Given the description of an element on the screen output the (x, y) to click on. 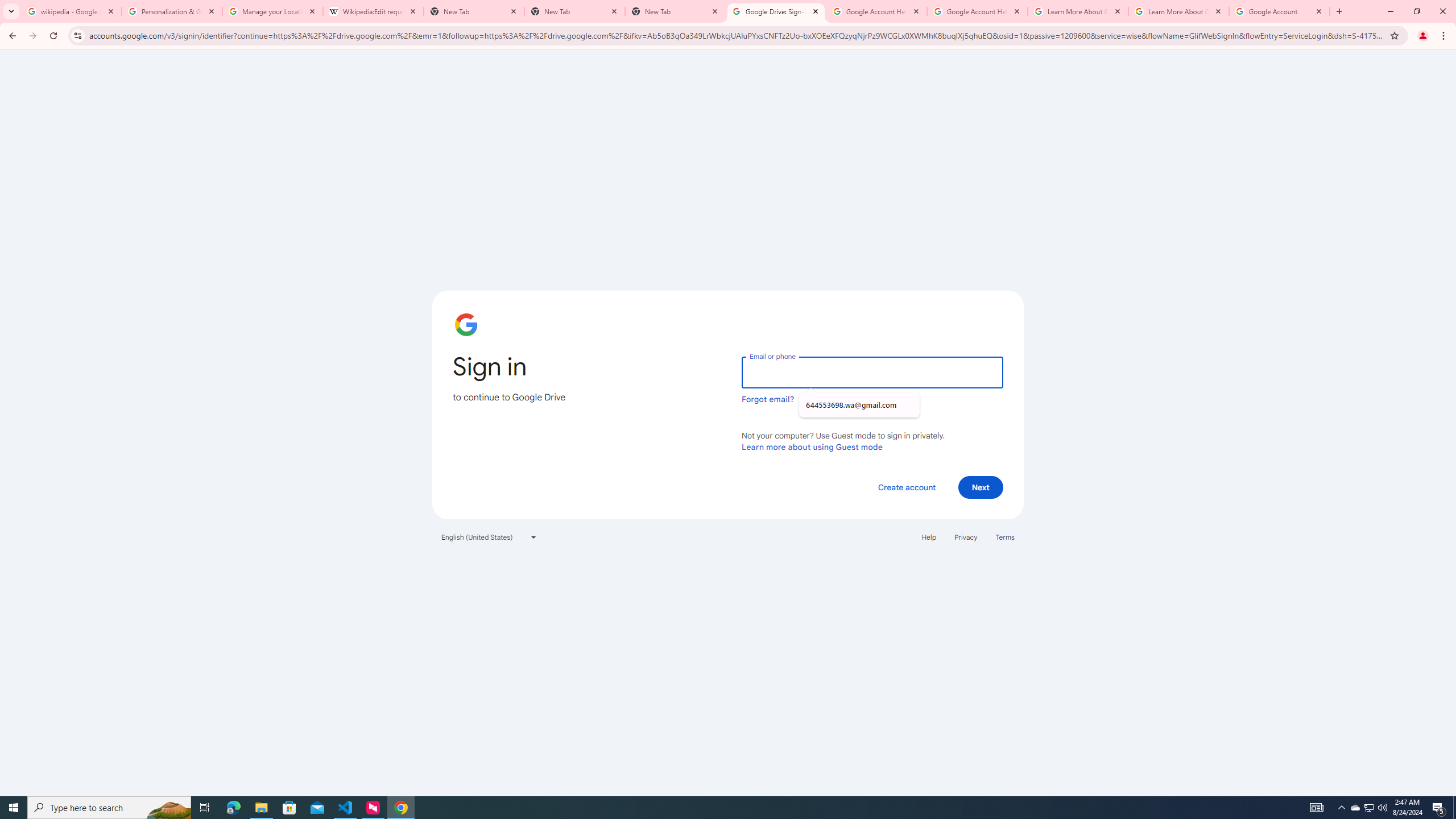
Create account (905, 486)
Wikipedia:Edit requests - Wikipedia (373, 11)
Next (980, 486)
Manage your Location History - Google Search Help (271, 11)
